Given the description of an element on the screen output the (x, y) to click on. 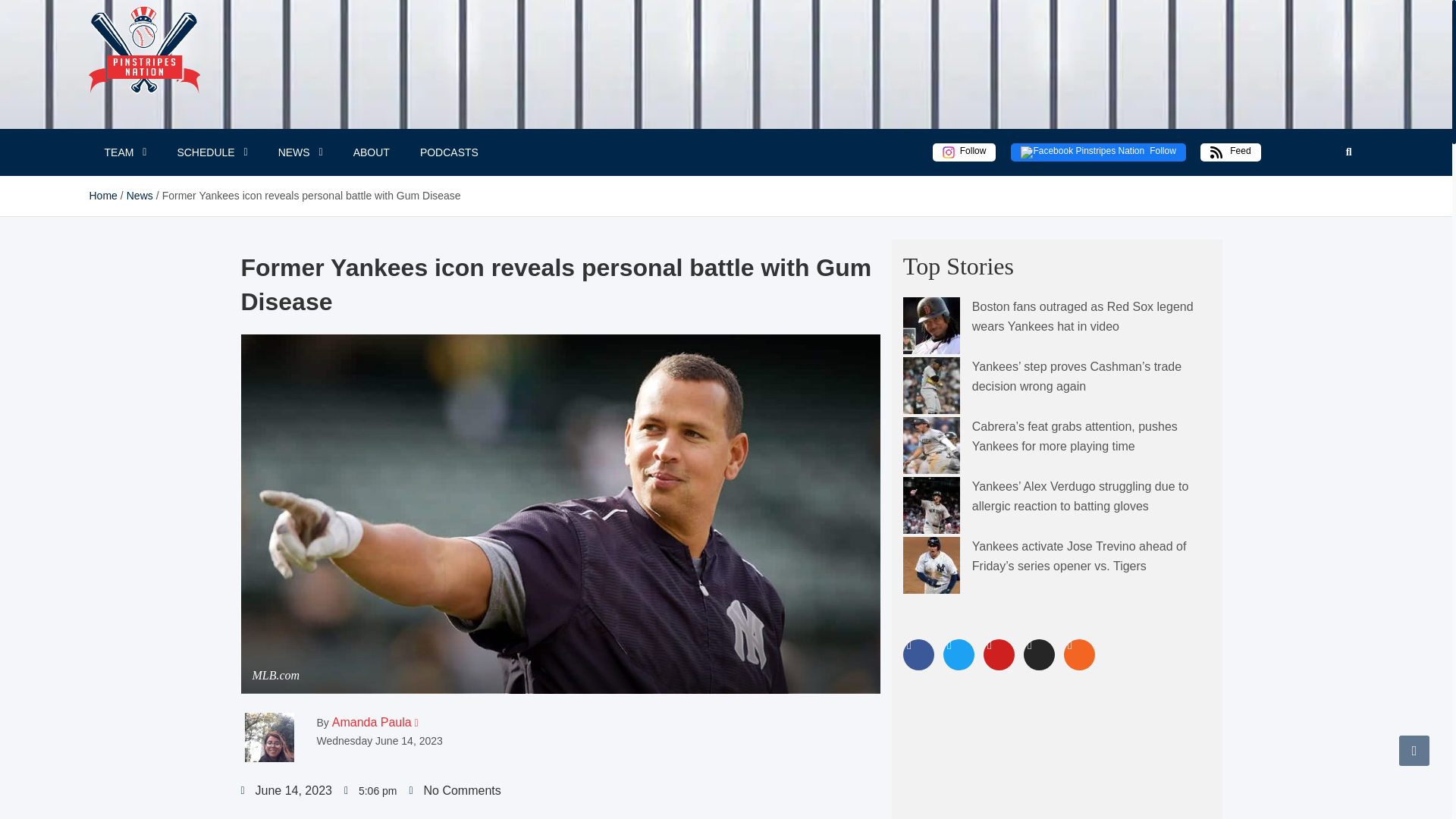
Follow Pinstripes Nation's Page on Facebook (1097, 152)
SCHEDULE (211, 152)
Follow (1097, 152)
Feed (1229, 152)
Follow (964, 152)
TEAM (124, 152)
PODCASTS (448, 152)
June 14, 2023 (286, 790)
Home (102, 195)
Follow Pinstripes Nation's Page on Instagram (964, 152)
